Given the description of an element on the screen output the (x, y) to click on. 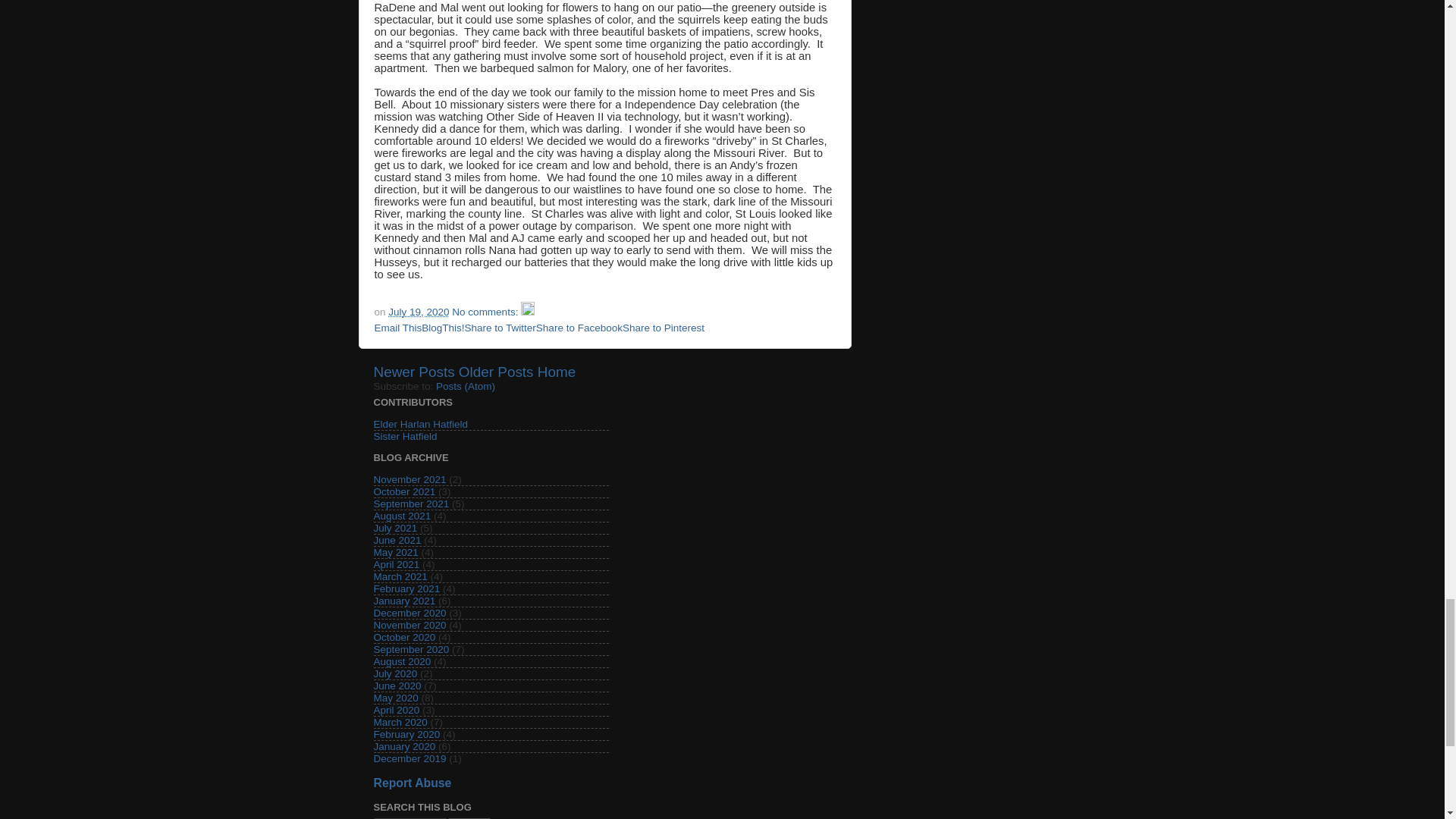
Share to Pinterest (663, 327)
November 2020 (408, 624)
March 2021 (399, 576)
September 2021 (410, 503)
Newer Posts (413, 371)
October 2021 (403, 491)
Edit Post (527, 311)
April 2021 (395, 564)
BlogThis! (443, 327)
Share to Twitter (499, 327)
Search (469, 818)
permanent link (418, 311)
February 2021 (405, 588)
January 2021 (403, 600)
Older Posts (496, 371)
